Given the description of an element on the screen output the (x, y) to click on. 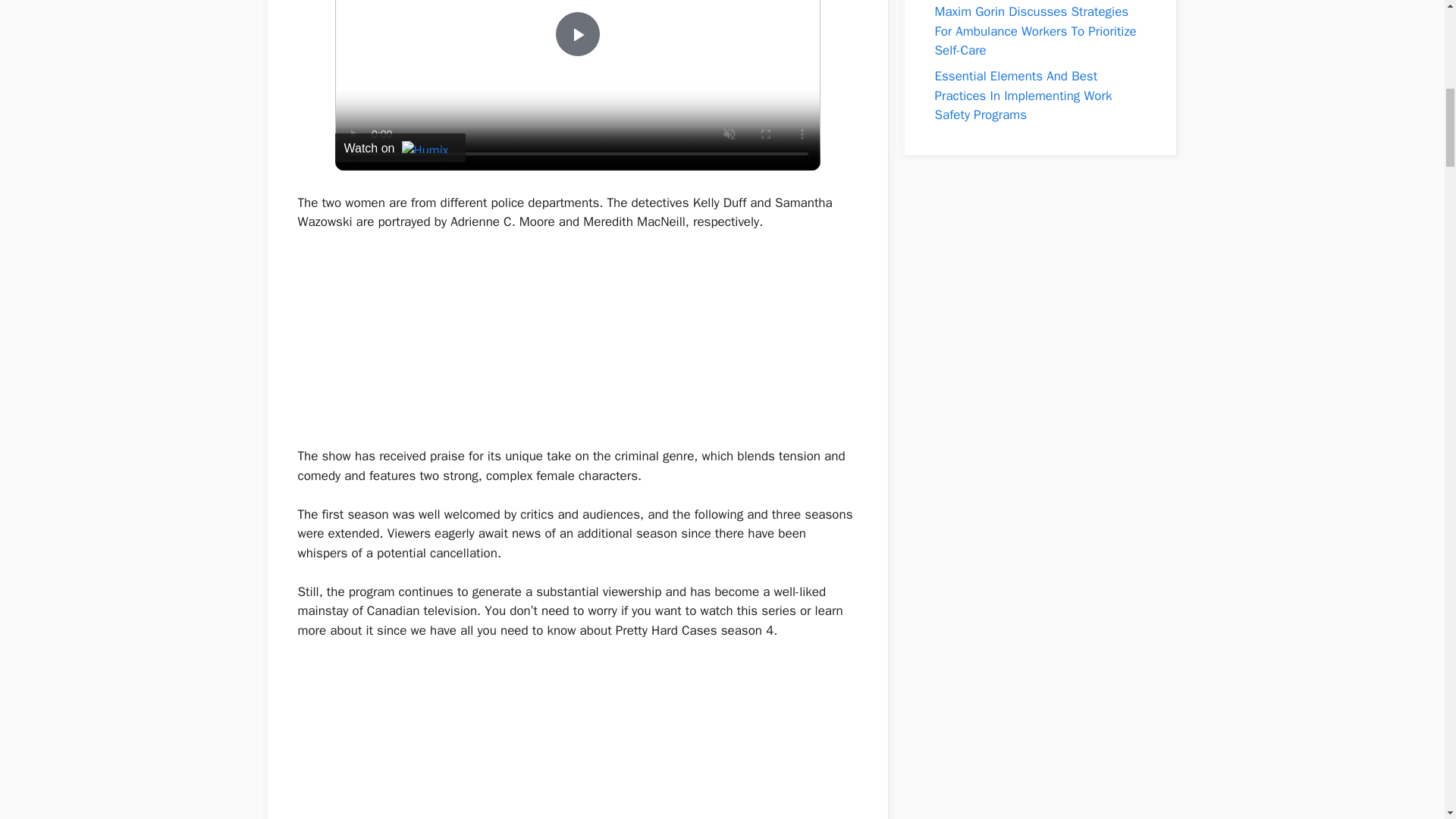
Watch on (399, 147)
Play Video (576, 33)
Play Video (576, 33)
